Given the description of an element on the screen output the (x, y) to click on. 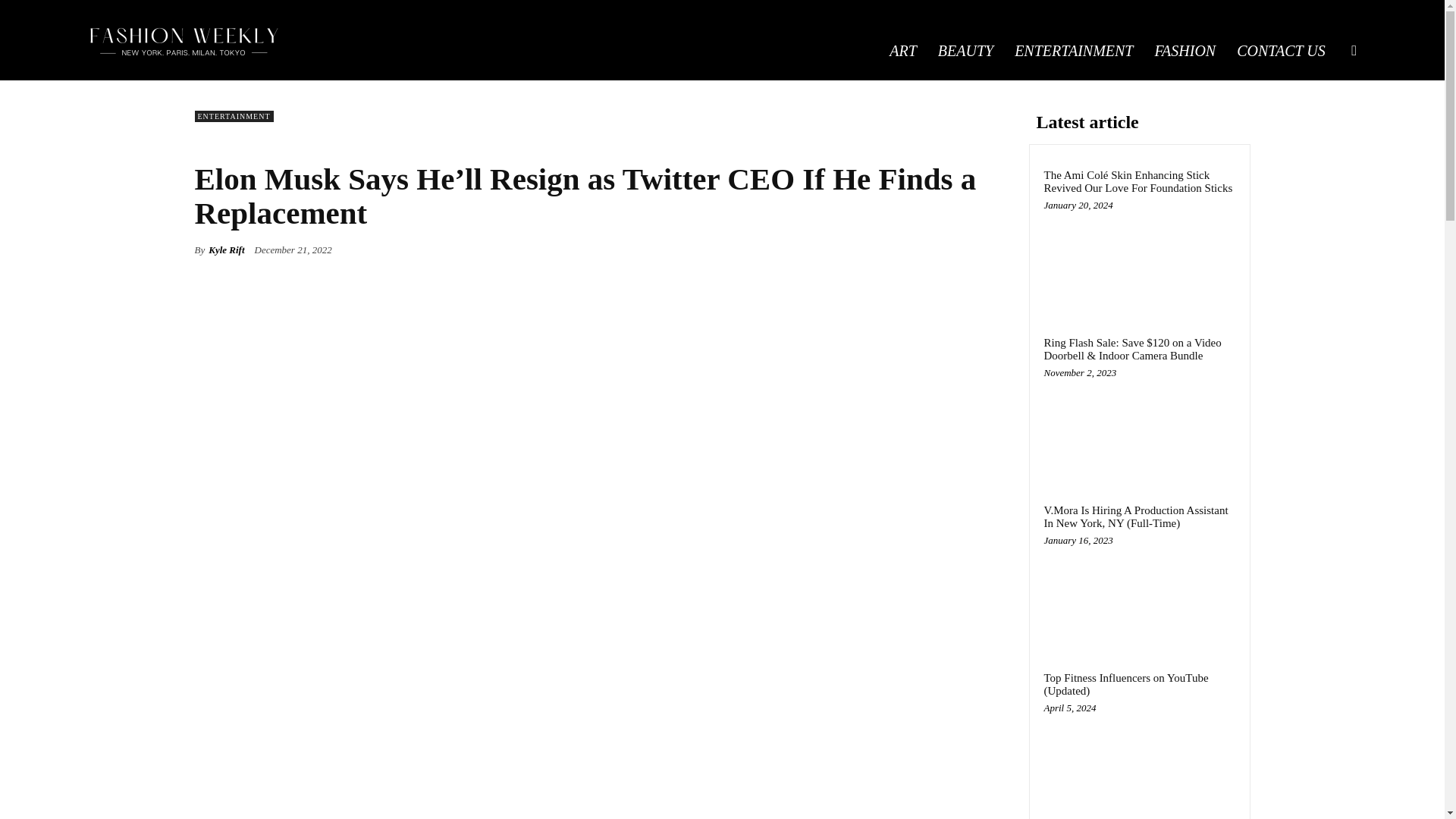
ENTERTAINMENT (1073, 50)
Kyle Rift (226, 249)
Search (1329, 122)
Fashion Weekly Mag (185, 39)
CONTACT US (1280, 50)
FASHION (1183, 50)
ENTERTAINMENT (233, 116)
BEAUTY (965, 50)
